Given the description of an element on the screen output the (x, y) to click on. 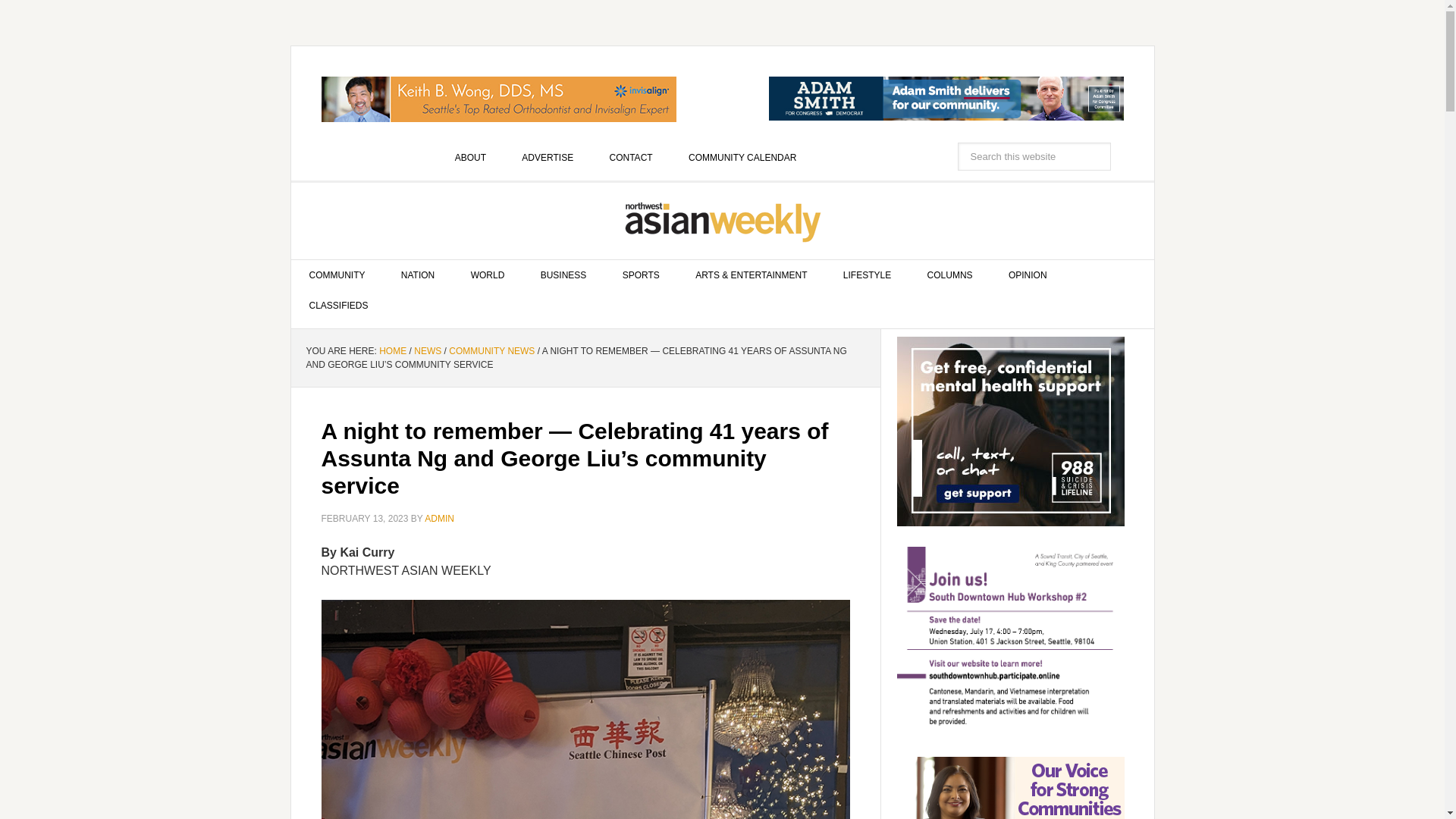
WORLD (487, 275)
COMMUNITY (337, 275)
LIFESTYLE (866, 275)
COMMUNITY CALENDAR (741, 157)
ADVERTISE (547, 157)
BUSINESS (563, 275)
CLASSIFIEDS (339, 305)
OPINION (1027, 275)
COMMUNITY NEWS (491, 350)
NEWS (427, 350)
CONTACT (631, 157)
COLUMNS (949, 275)
